Given the description of an element on the screen output the (x, y) to click on. 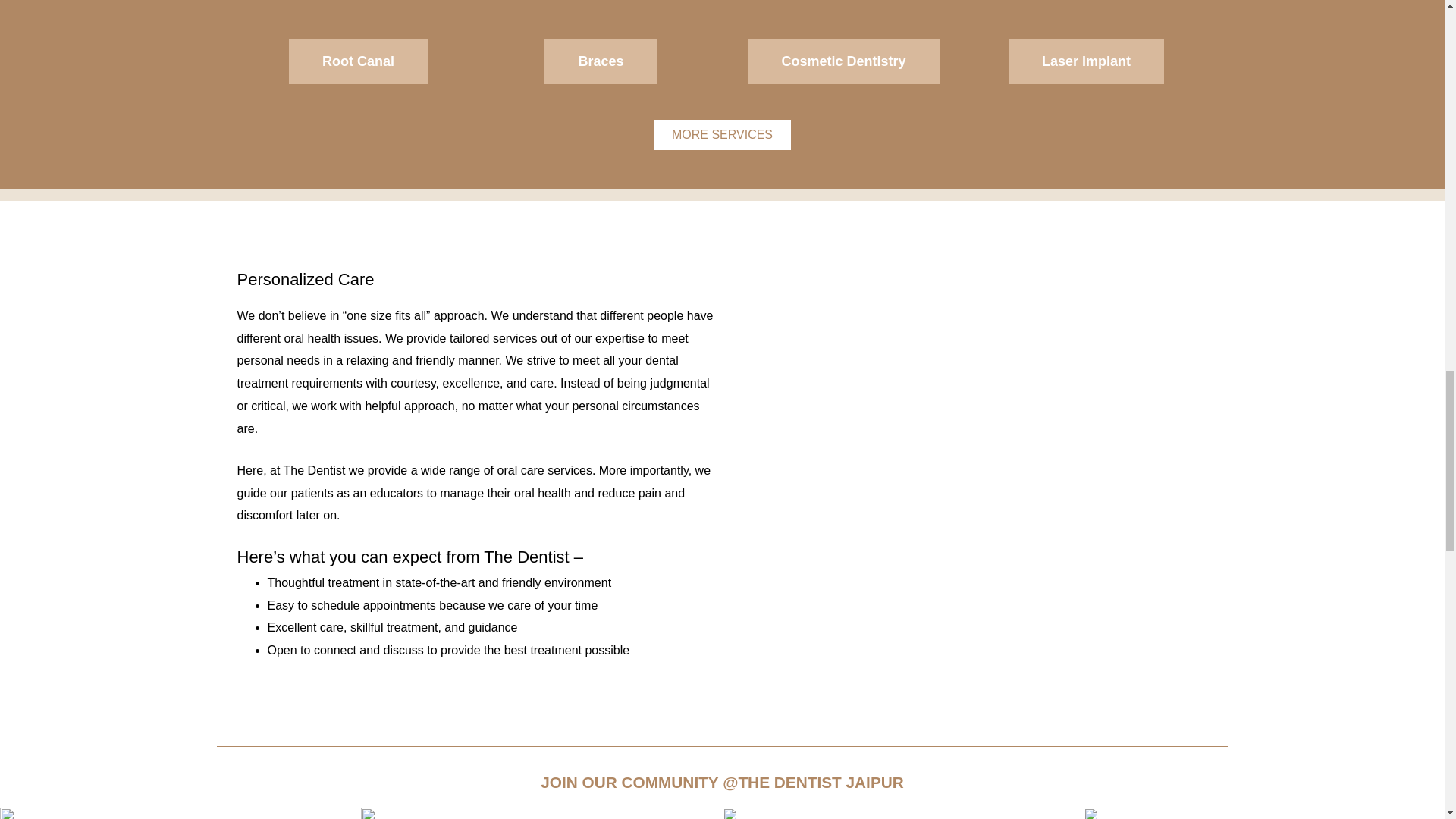
Root Canal (357, 61)
Braces (600, 61)
